Given the description of an element on the screen output the (x, y) to click on. 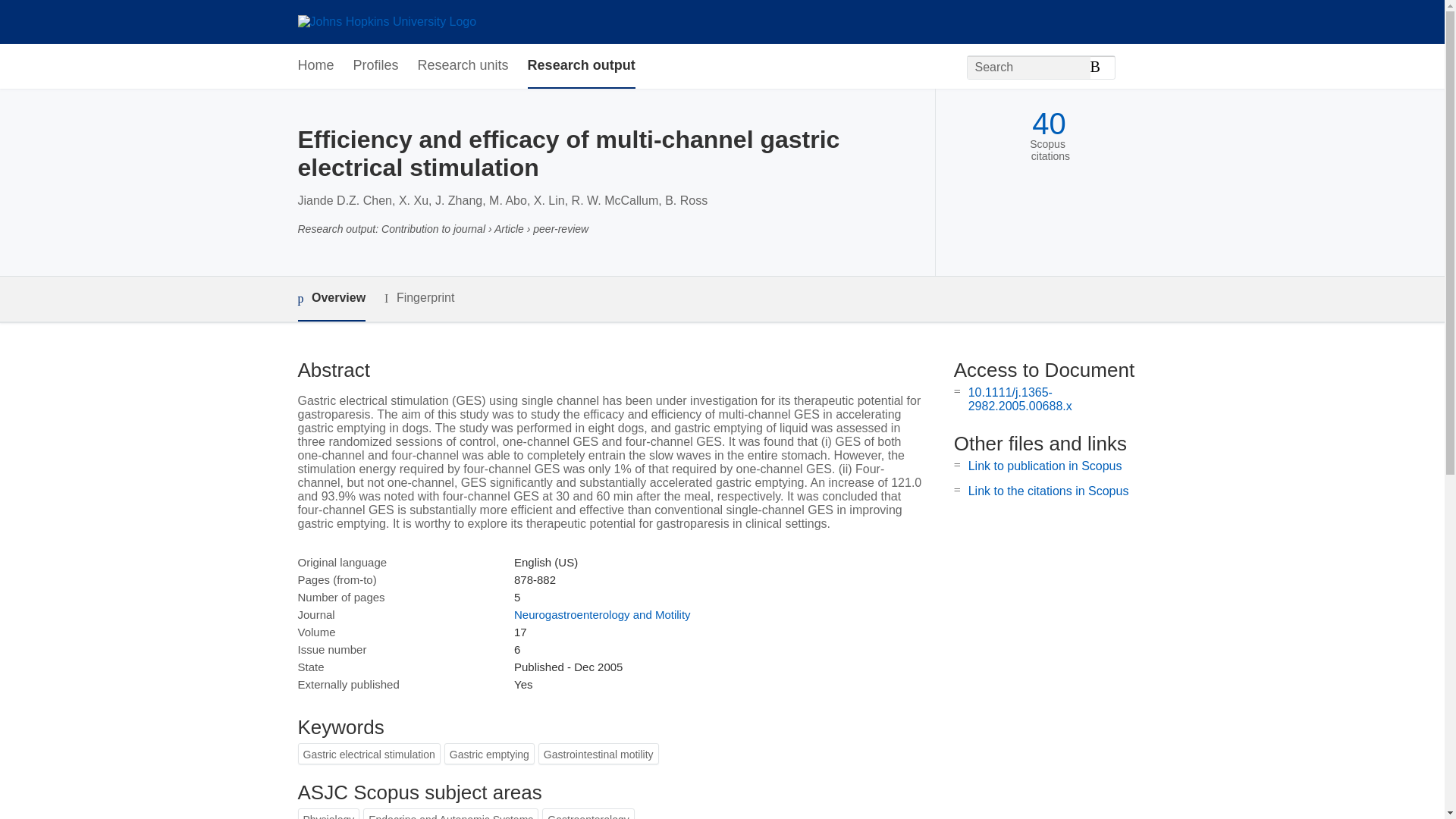
Home (315, 66)
Fingerprint (419, 298)
Research units (462, 66)
Link to publication in Scopus (1045, 465)
Profiles (375, 66)
40 (1048, 123)
Research output (580, 66)
Neurogastroenterology and Motility (601, 614)
Johns Hopkins University Home (386, 21)
Overview (331, 298)
Link to the citations in Scopus (1048, 490)
